Given the description of an element on the screen output the (x, y) to click on. 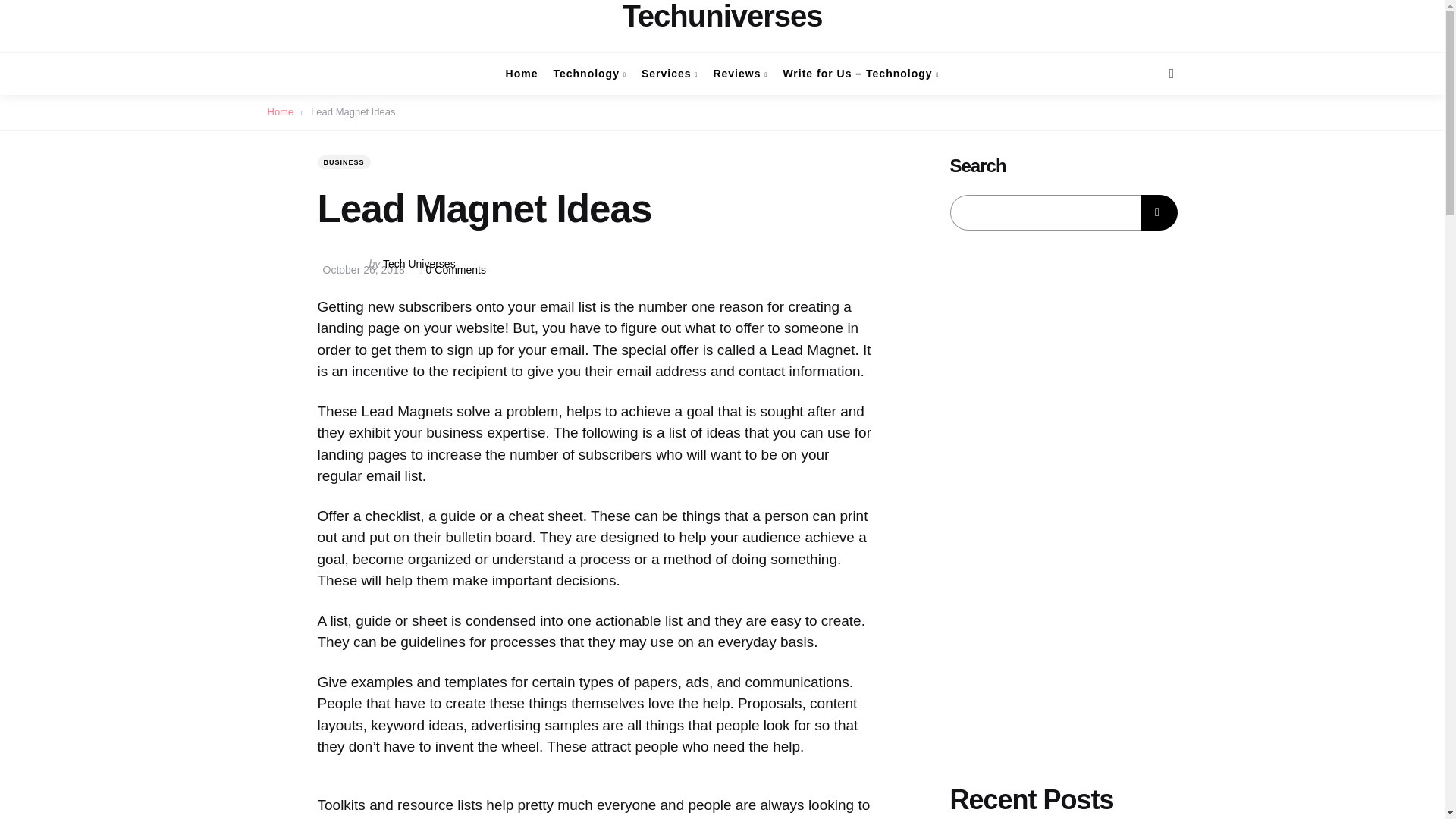
Services (670, 73)
Home (521, 73)
Technology (589, 73)
Techuniverses (721, 15)
